Given the description of an element on the screen output the (x, y) to click on. 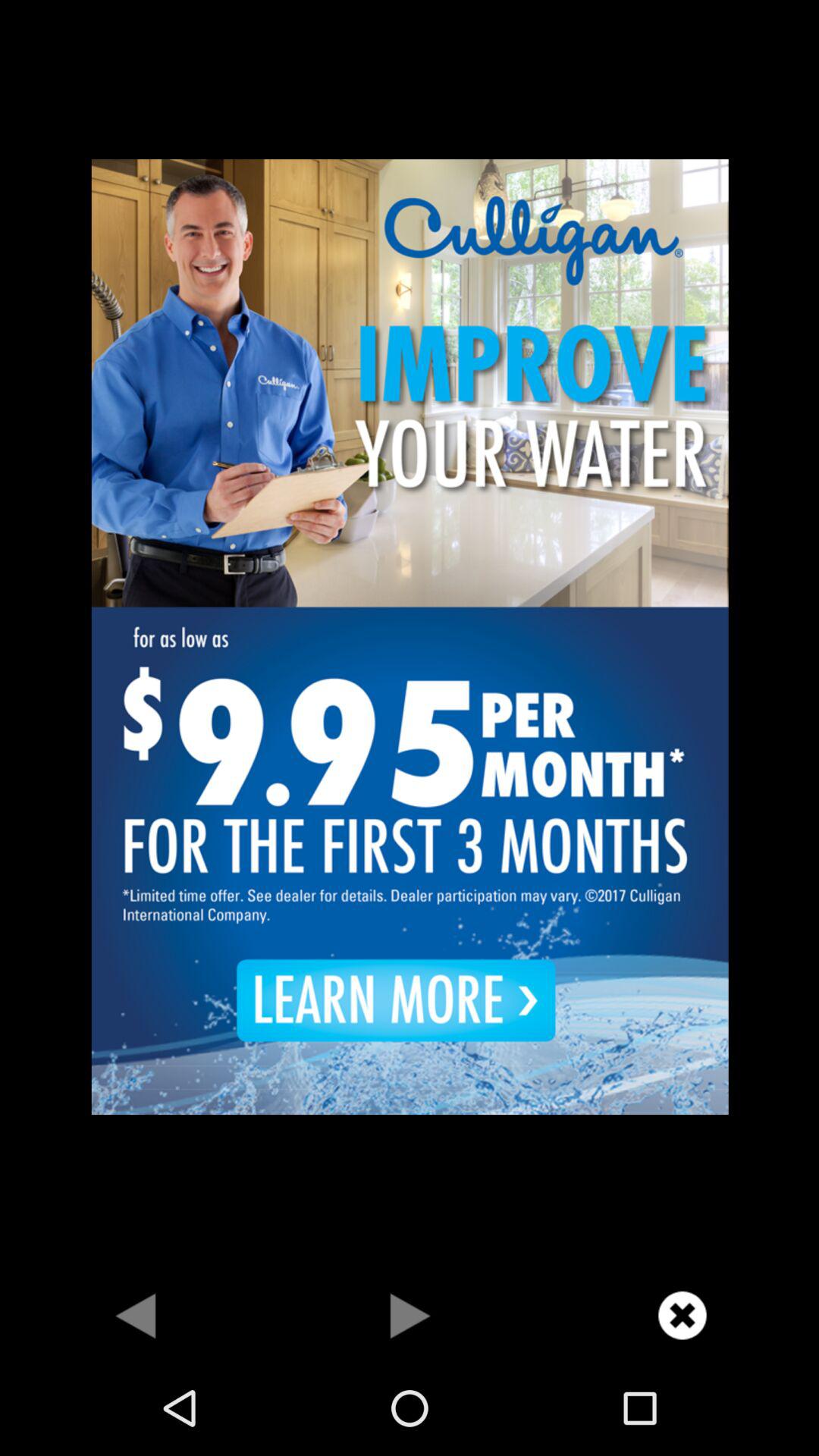
advertisement page (409, 635)
